Given the description of an element on the screen output the (x, y) to click on. 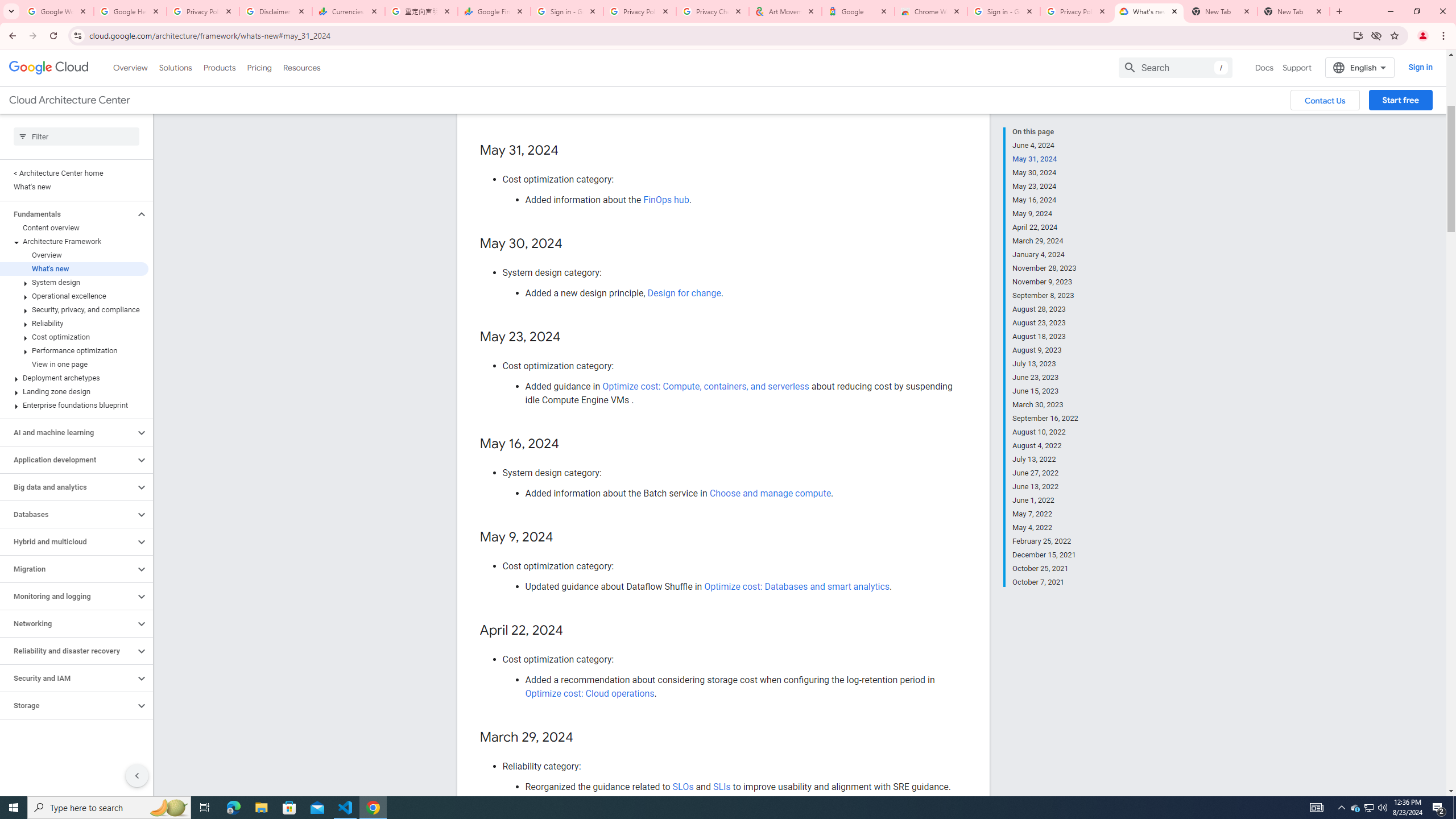
Design for change (683, 292)
August 18, 2023 (1044, 336)
Contact Us (1324, 100)
Privacy Checkup (712, 11)
Copy link to this section: May 31, 2024 (570, 151)
August 23, 2023 (1044, 323)
June 23, 2023 (1044, 377)
March 29, 2024 (1044, 241)
What's new (74, 269)
Optimize cost: Cloud operations (590, 692)
Type to filter (76, 136)
May 31, 2024 (1044, 159)
